Given the description of an element on the screen output the (x, y) to click on. 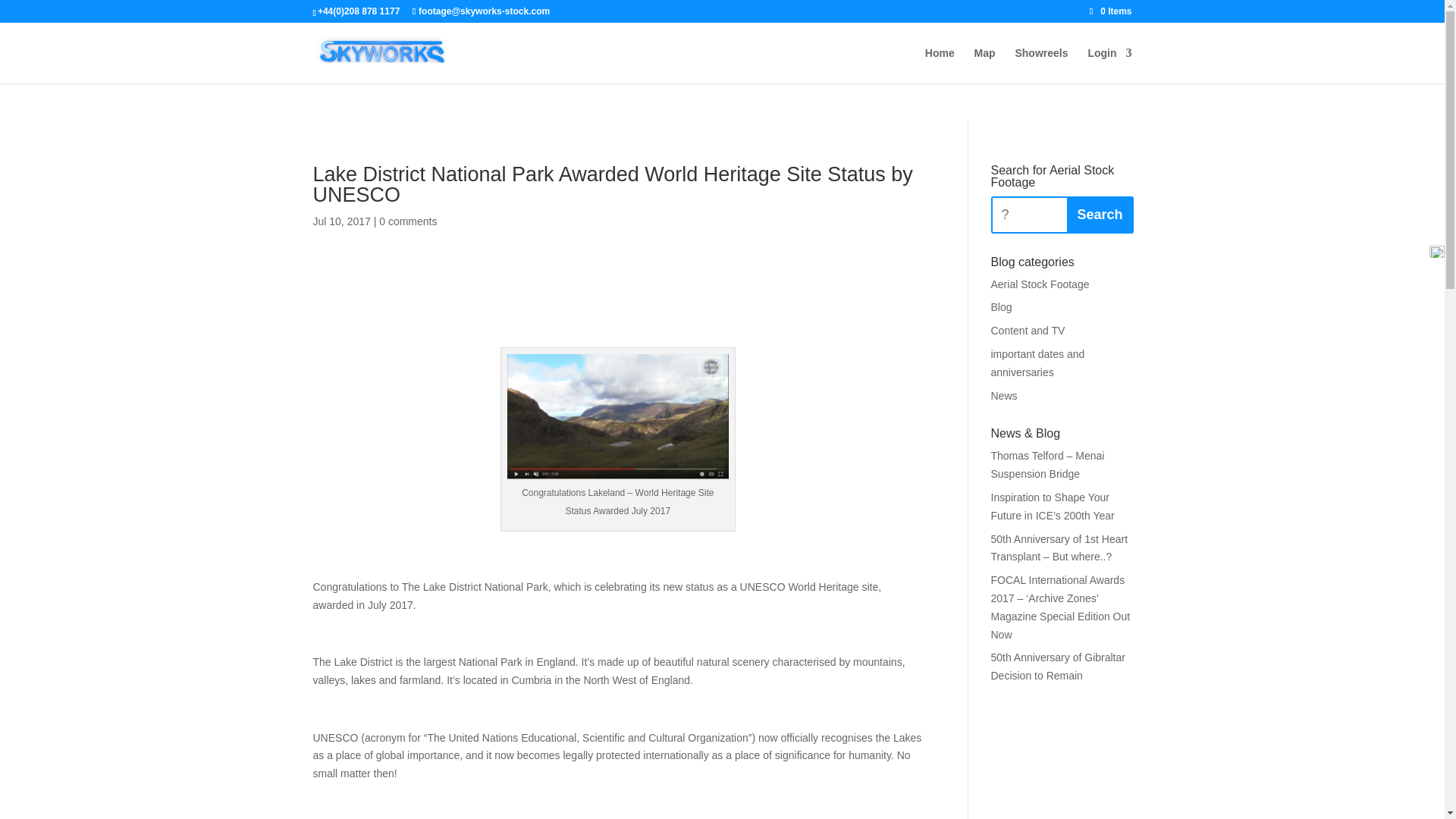
important dates and anniversaries (1037, 363)
Search (1098, 214)
Login (1109, 65)
Search (1098, 214)
Blog (1000, 306)
Showreels (1040, 65)
50th Anniversary of Gibraltar Decision to Remain (1057, 666)
0 comments (407, 221)
Aerial Stock Footage (1039, 284)
Content and TV (1027, 330)
